Given the description of an element on the screen output the (x, y) to click on. 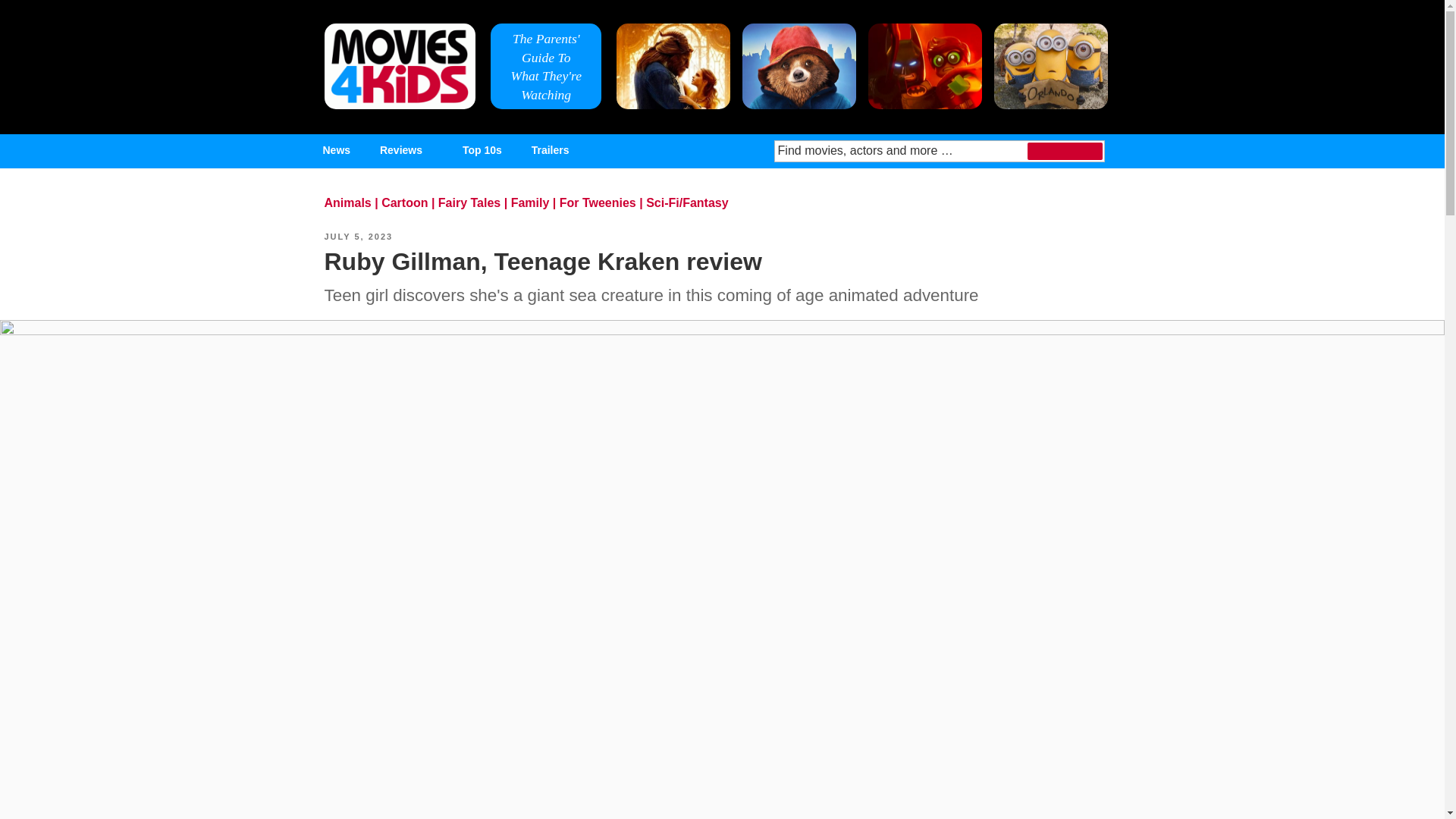
For Tweenies (597, 202)
Family (530, 202)
Animals (347, 202)
Fairy Tales (469, 202)
Search (1064, 150)
Reviews (405, 150)
News (336, 150)
Trailers (550, 150)
Top 10s (481, 150)
Cartoon (404, 202)
JULY 5, 2023 (358, 235)
